Given the description of an element on the screen output the (x, y) to click on. 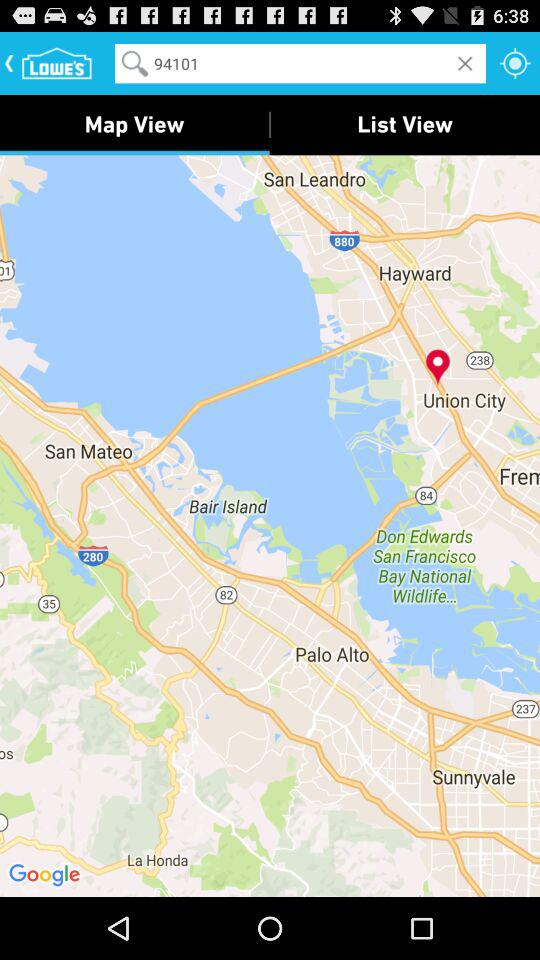
jump until the 94101 (300, 62)
